Given the description of an element on the screen output the (x, y) to click on. 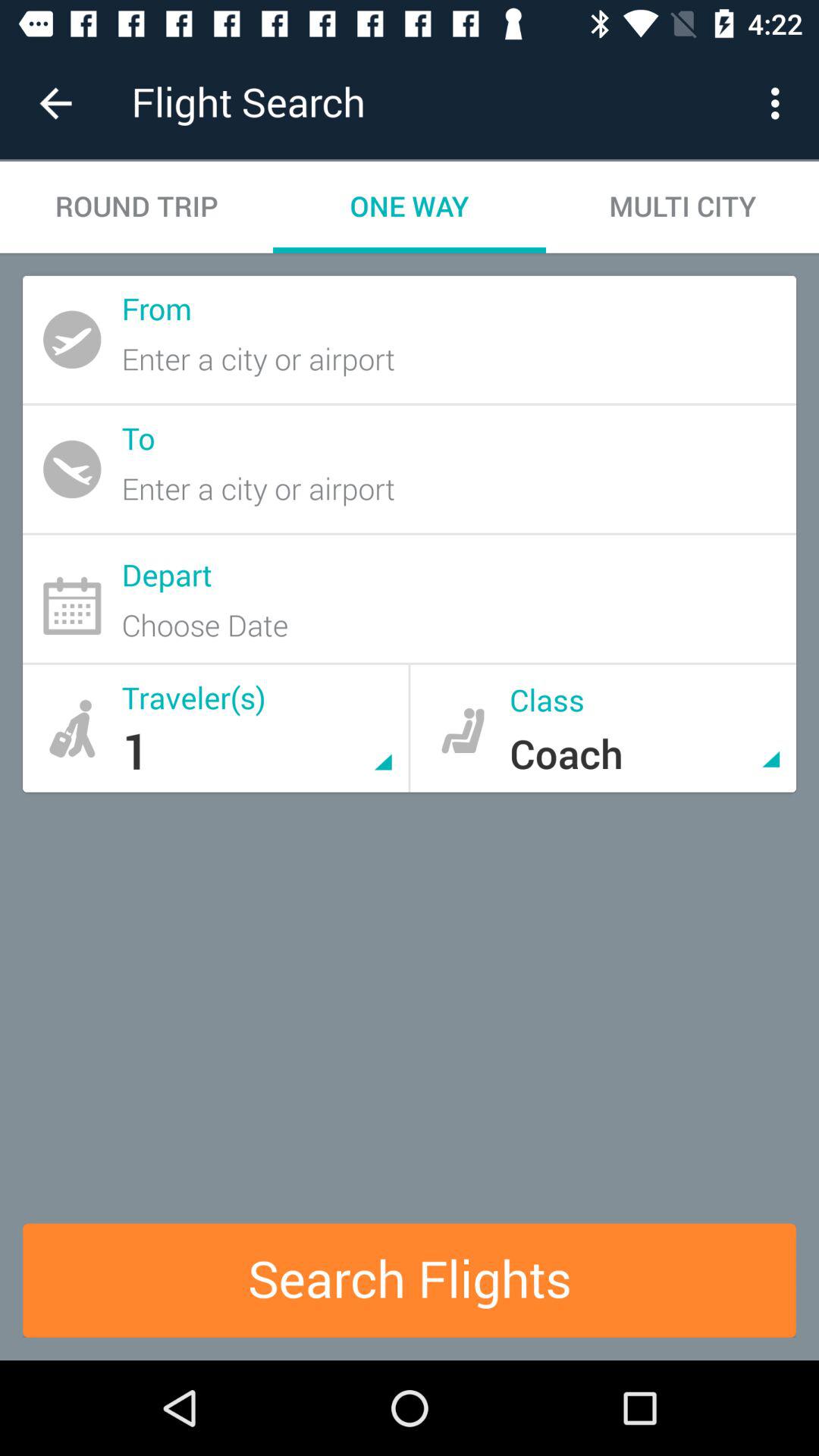
turn off the item to the left of the multi city (409, 207)
